Given the description of an element on the screen output the (x, y) to click on. 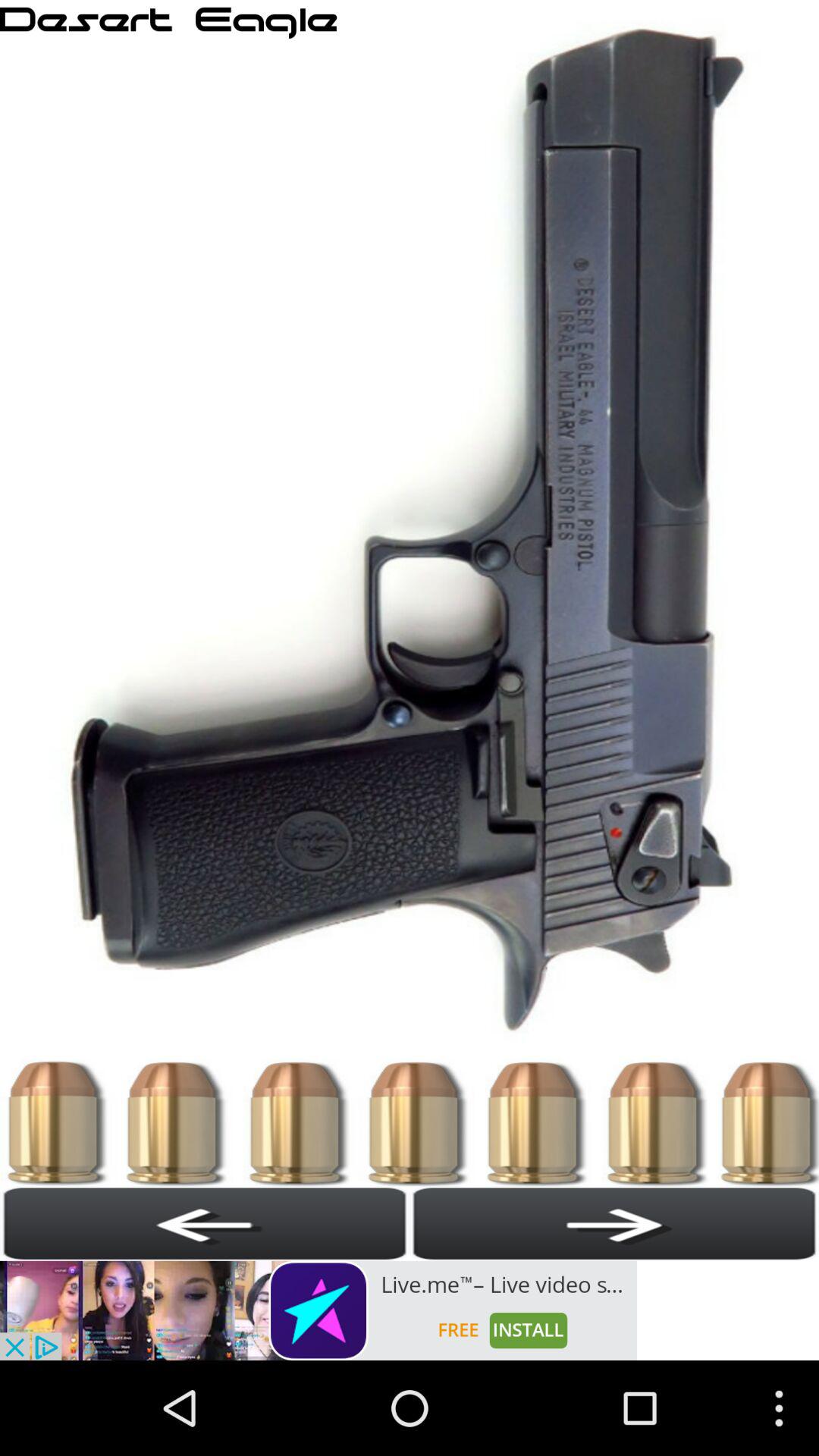
go to next page (614, 1223)
